Given the description of an element on the screen output the (x, y) to click on. 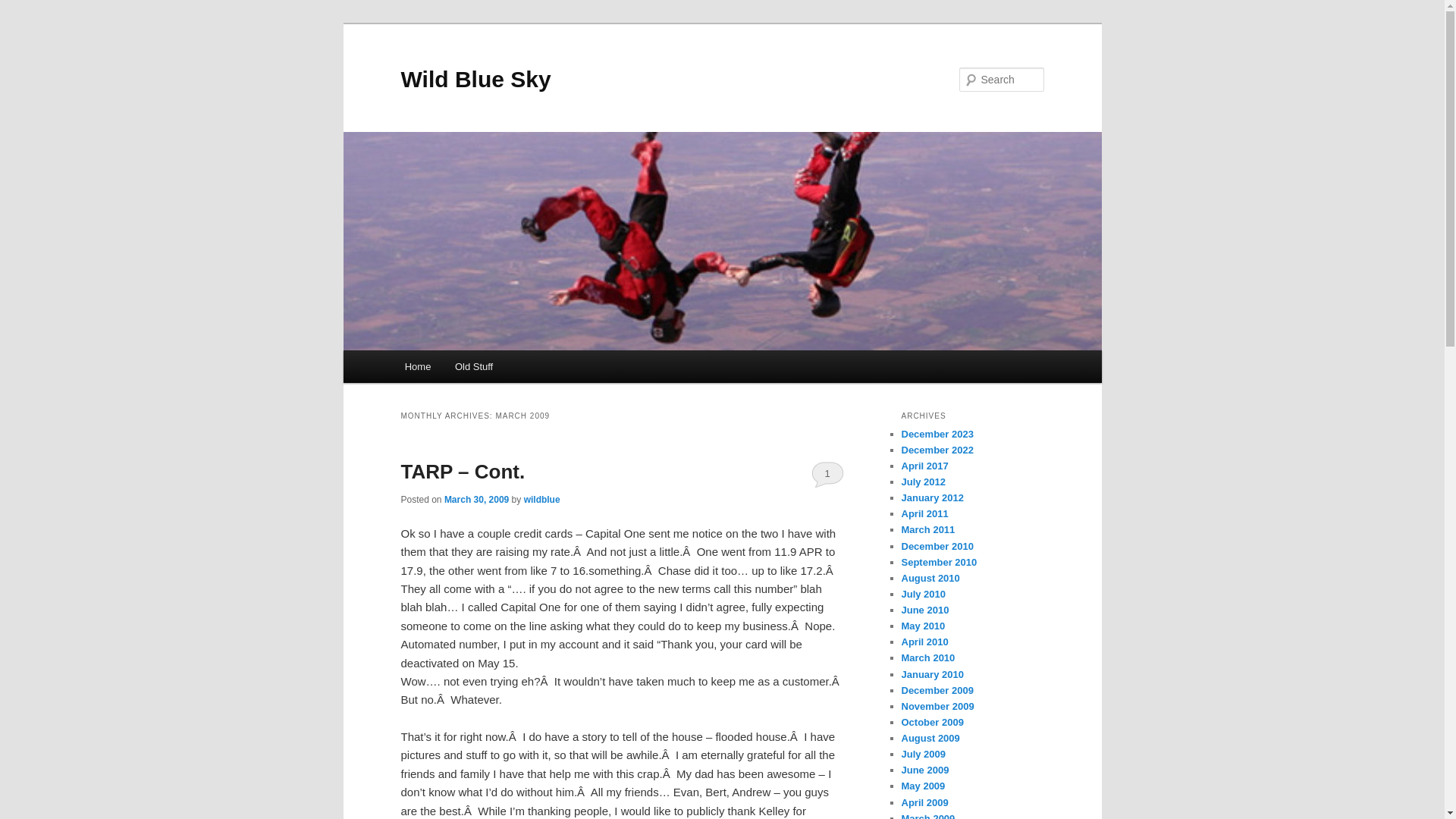
April 2017 (924, 465)
December 2022 (936, 449)
March 2009 (928, 816)
March 2010 (928, 657)
May 2009 (922, 785)
November 2009 (937, 706)
April 2010 (924, 641)
1 (827, 473)
August 2010 (930, 577)
April 2009 (924, 802)
January 2012 (931, 497)
January 2010 (931, 674)
December 2023 (936, 433)
Home (417, 366)
May 2010 (922, 625)
